Given the description of an element on the screen output the (x, y) to click on. 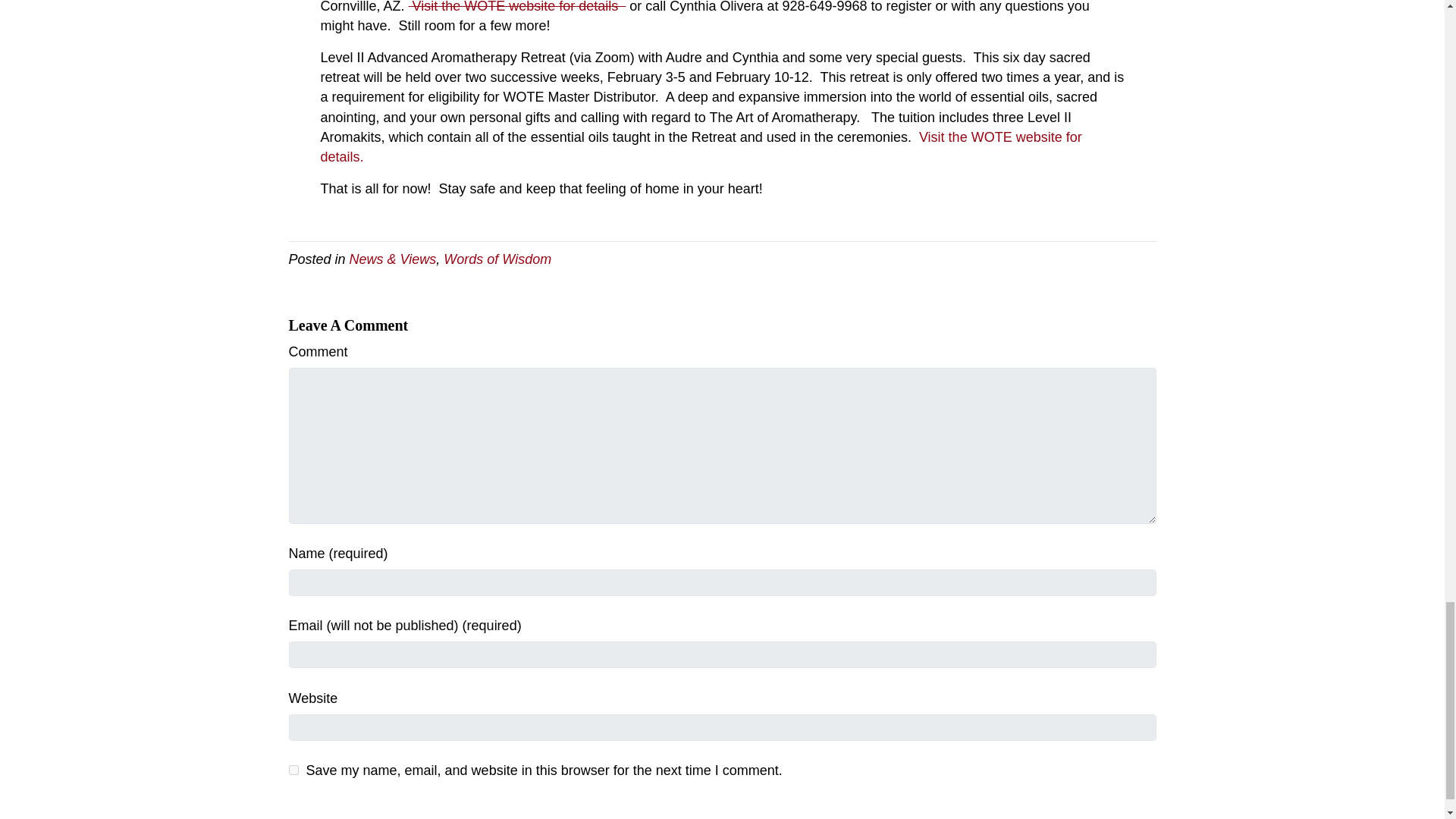
yes (293, 769)
